Given the description of an element on the screen output the (x, y) to click on. 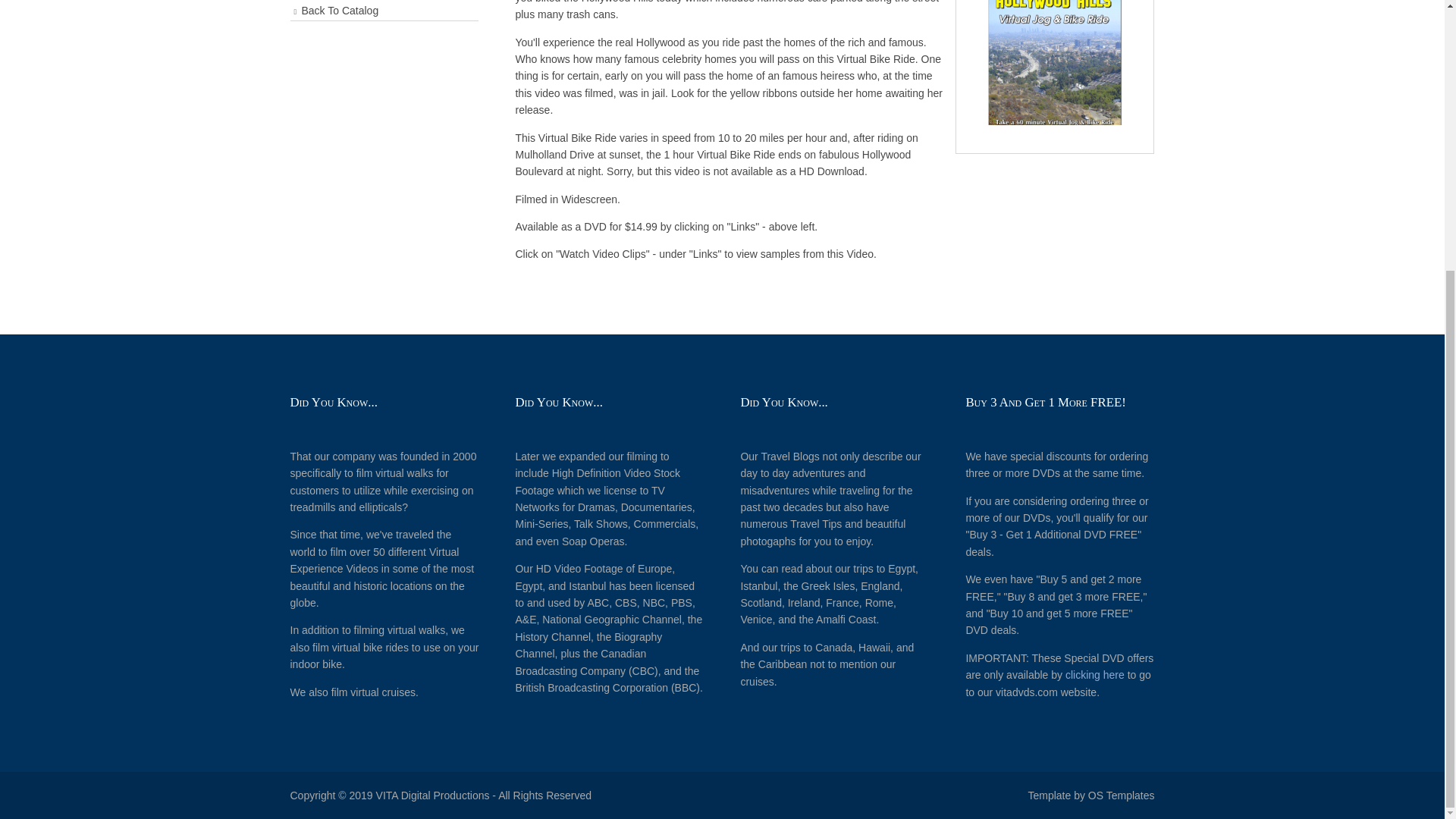
OS Templates (1120, 795)
Free Website Templates (1120, 795)
Back To Catalog (384, 10)
clicking here (1094, 674)
